Given the description of an element on the screen output the (x, y) to click on. 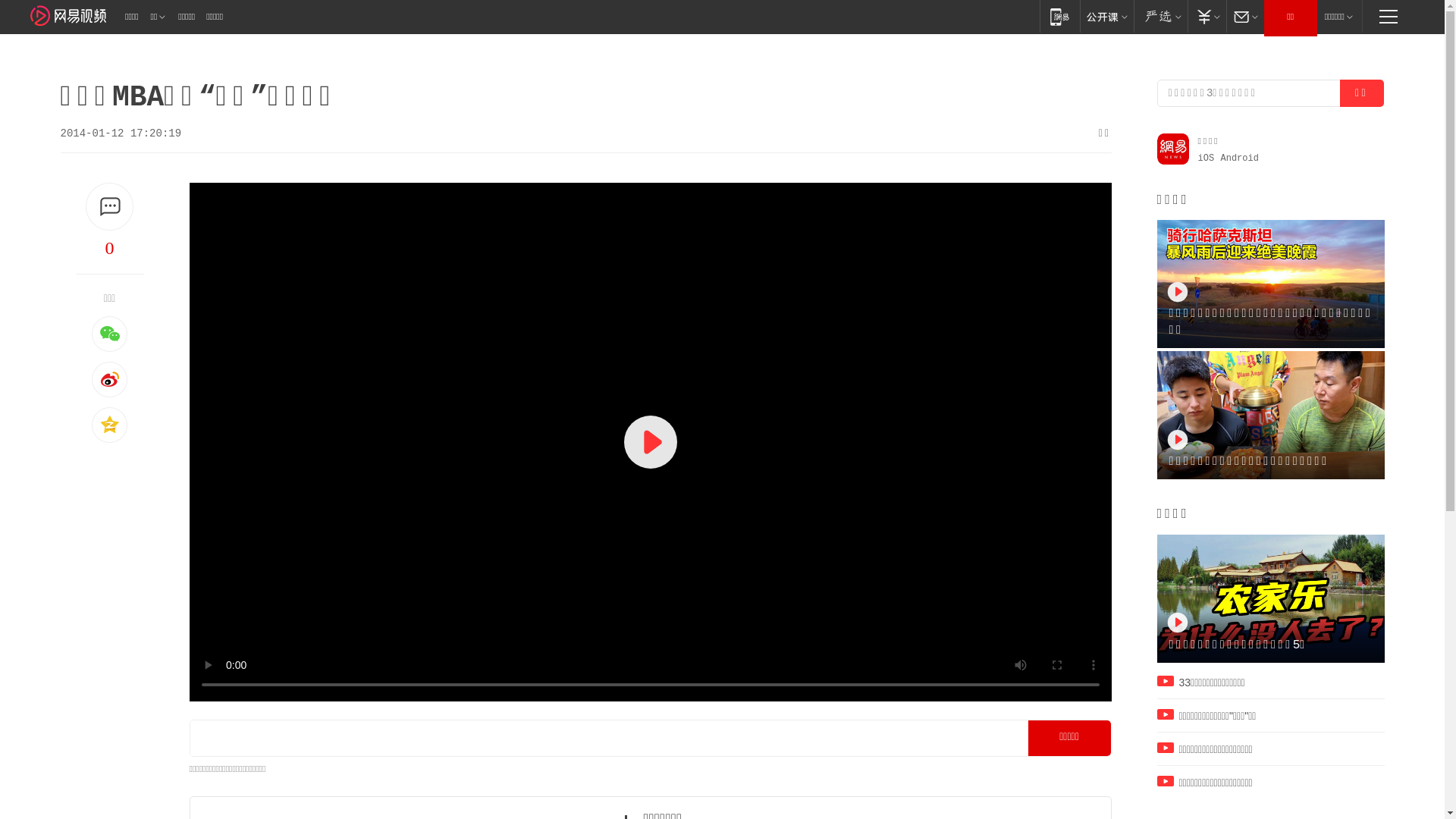
0 Element type: text (109, 247)
iOS Element type: text (1206, 158)
Android Element type: text (1239, 158)
